Given the description of an element on the screen output the (x, y) to click on. 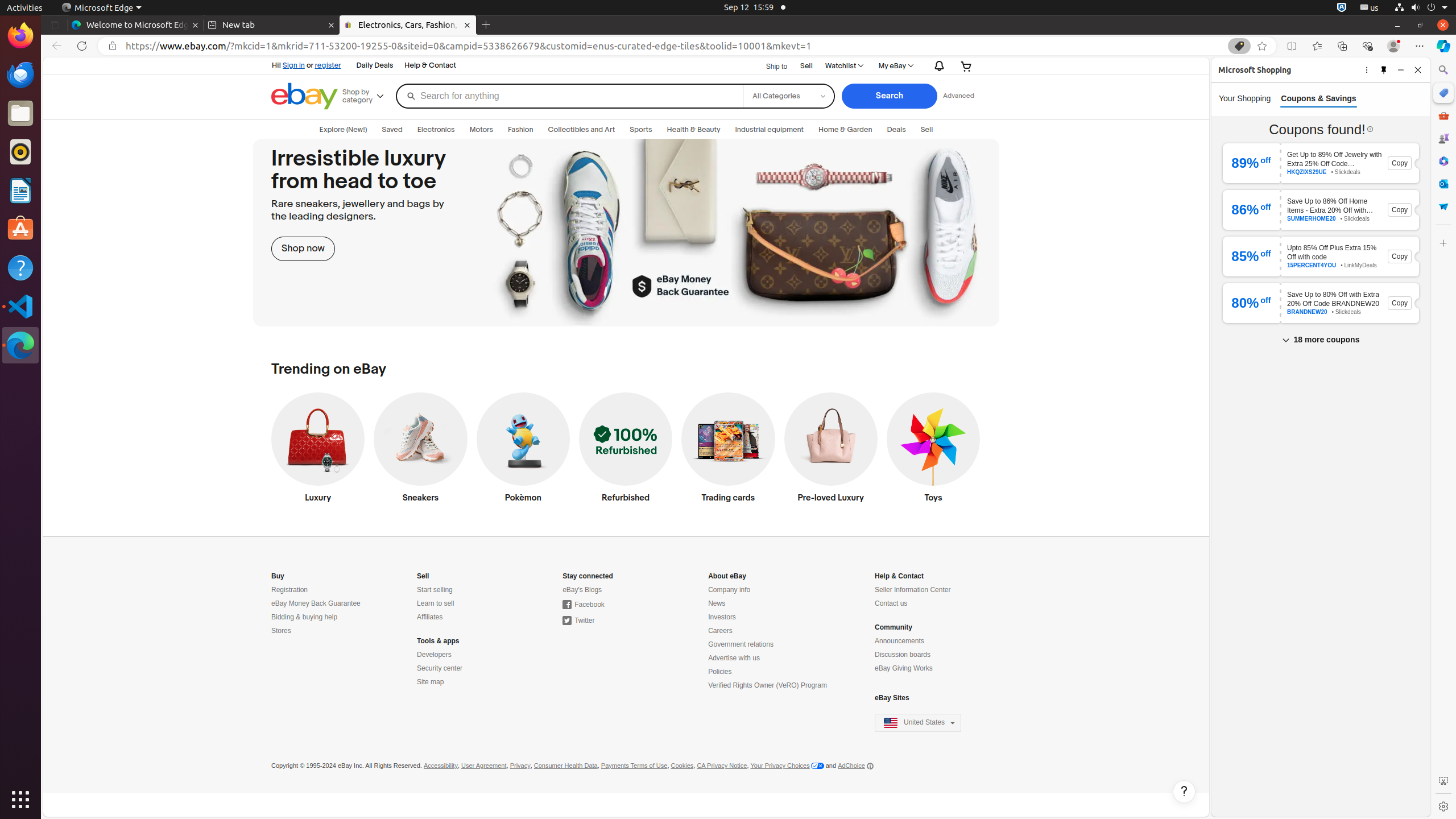
Consumer Health Data Element type: link (565, 765)
Thunderbird Mail Element type: push-button (20, 74)
Community Element type: link (893, 627)
Advertise with us Element type: link (733, 658)
Microsoft Shopping Element type: push-button (1443, 92)
